Given the description of an element on the screen output the (x, y) to click on. 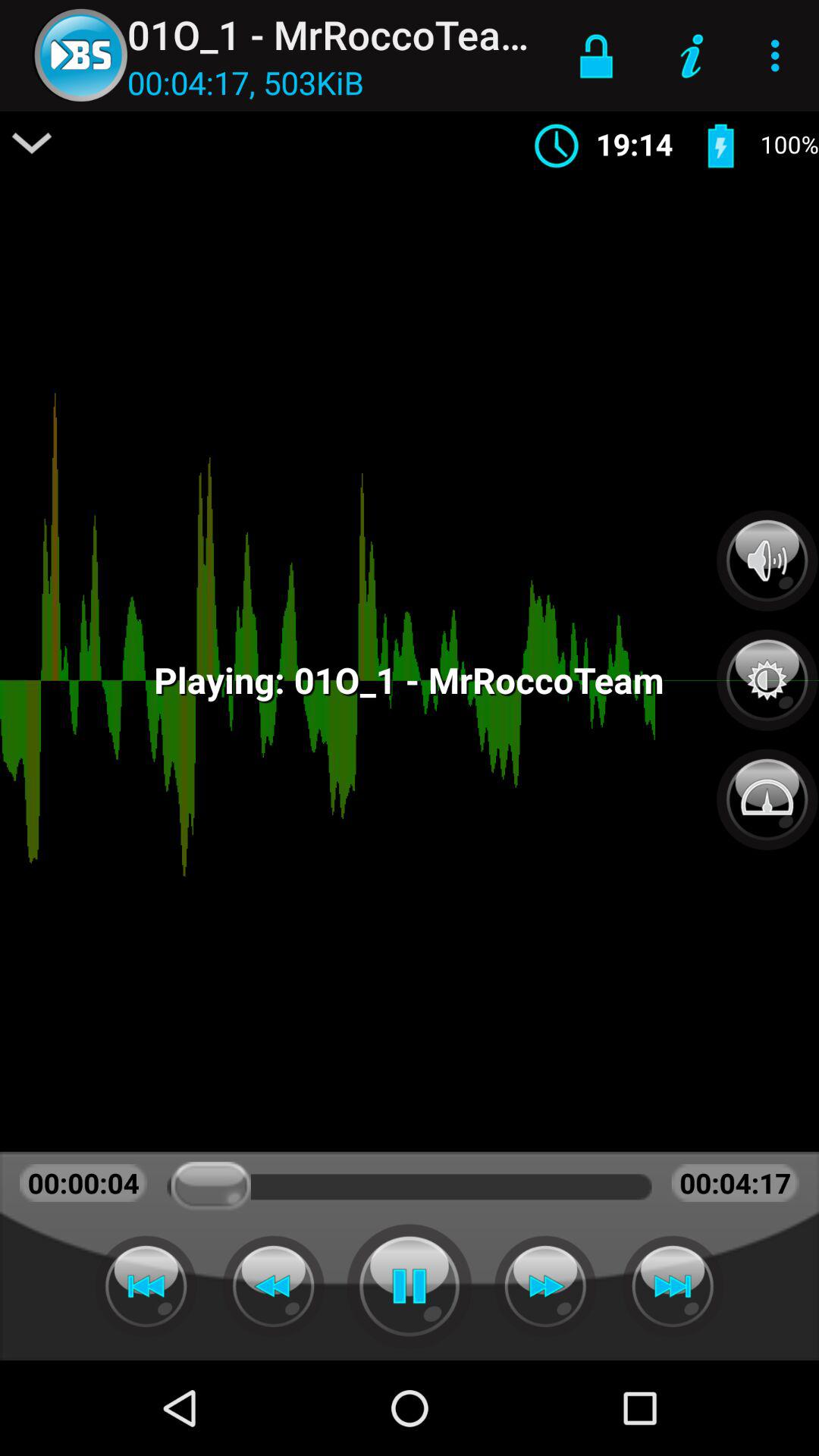
go to next (672, 1286)
